Given the description of an element on the screen output the (x, y) to click on. 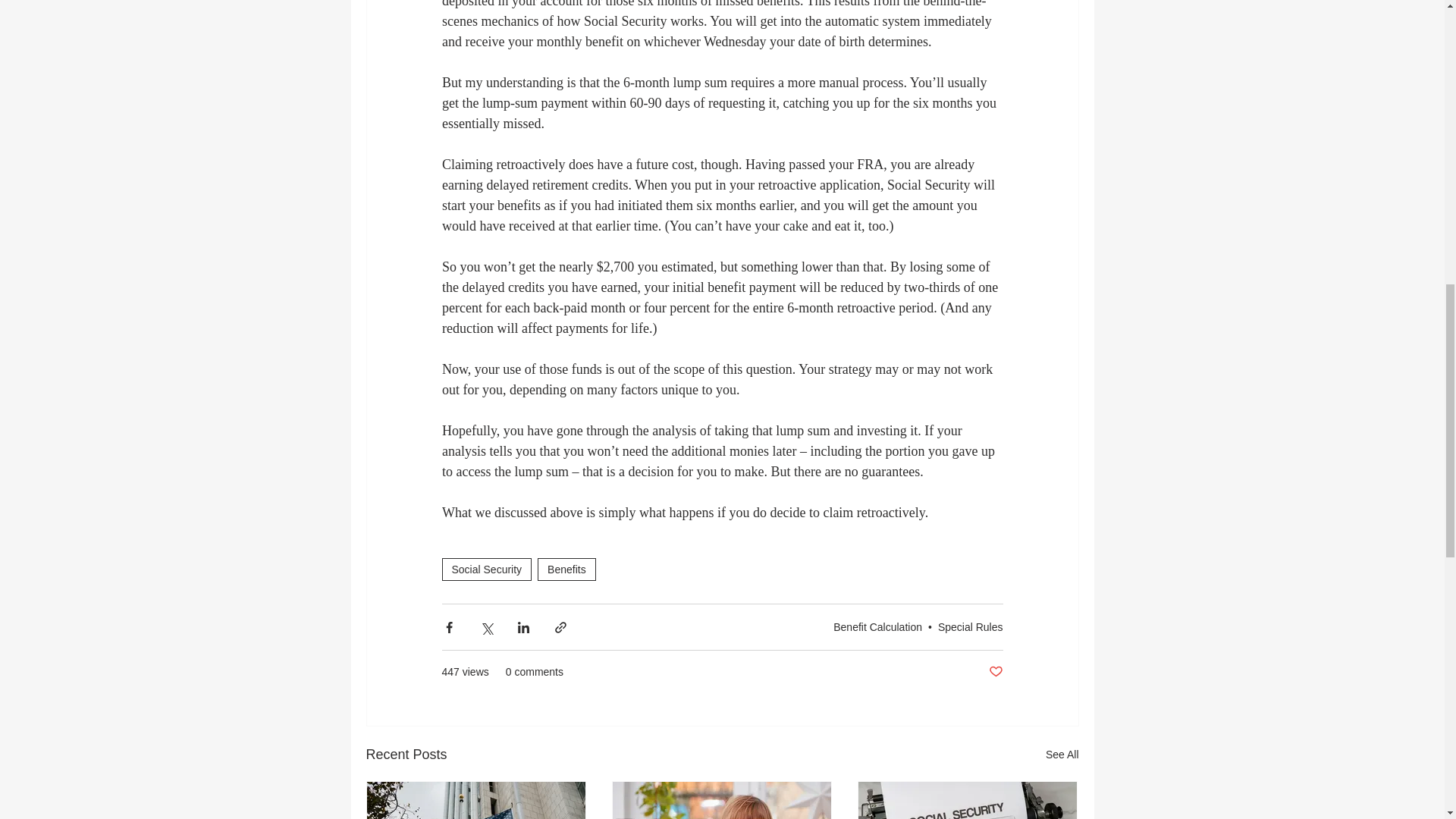
Social Security (486, 568)
Benefits (566, 568)
Benefit Calculation (876, 625)
See All (1061, 754)
Special Rules (970, 625)
Post not marked as liked (995, 672)
